Given the description of an element on the screen output the (x, y) to click on. 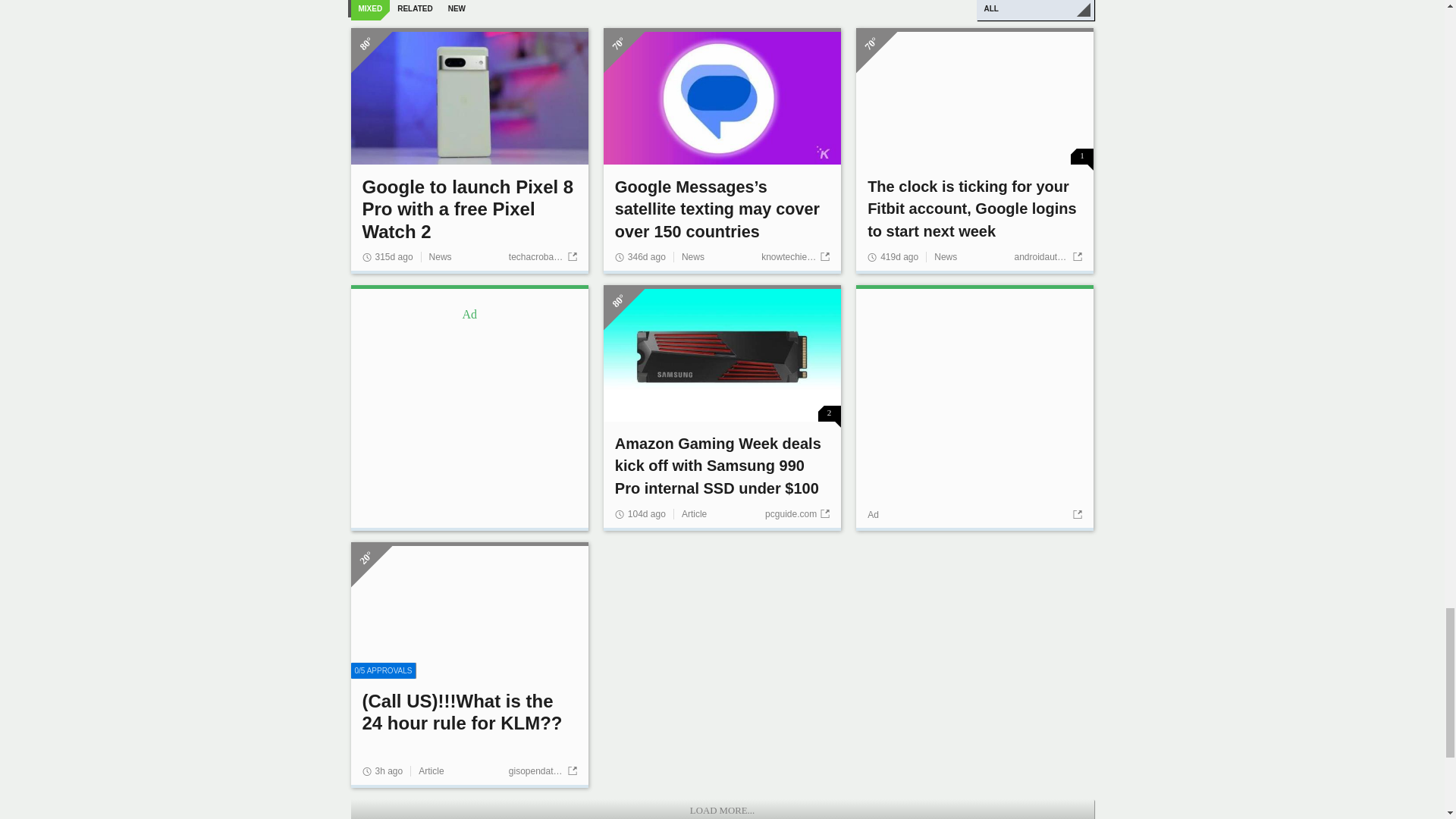
Go to source: pcguide.com (797, 513)
Go to source: techacrobat.com (542, 256)
Go to source: knowtechie.com (795, 256)
Go to source (1074, 514)
Go to source: gisopendata.pima.gov (542, 770)
Go to source: androidauthority.com (1047, 256)
